Given the description of an element on the screen output the (x, y) to click on. 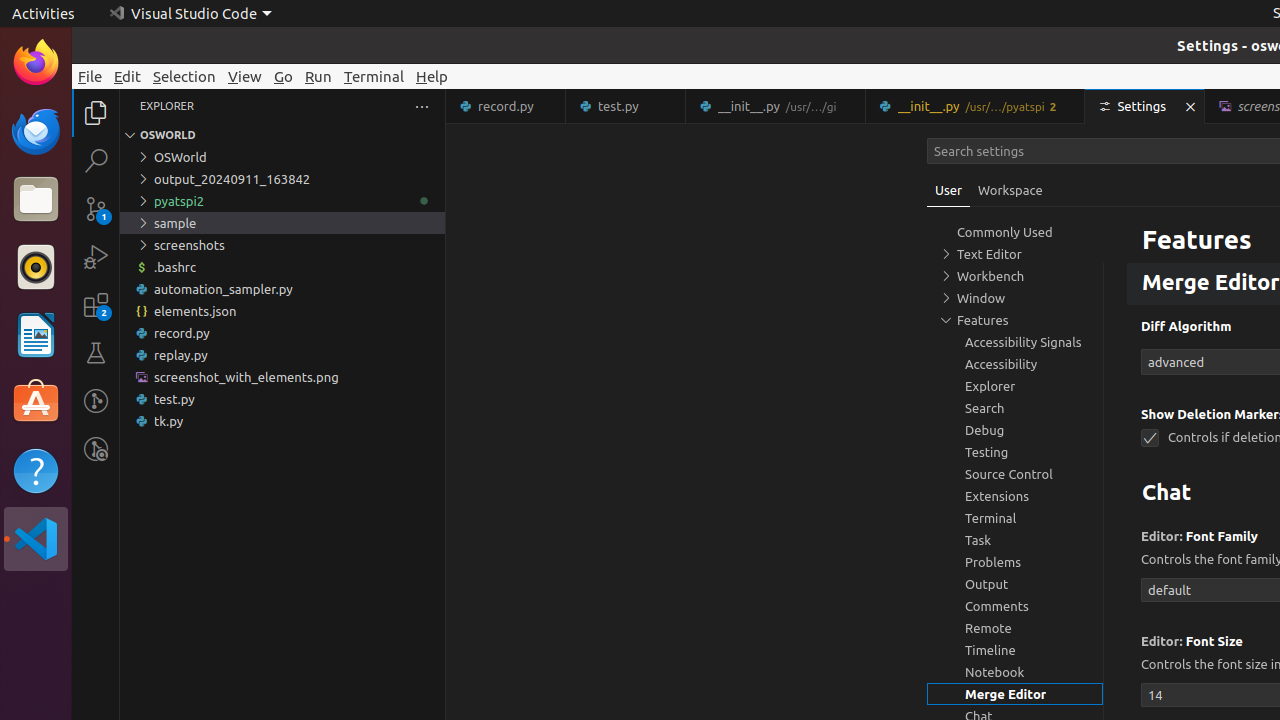
Workbench, group Element type: tree-item (1015, 276)
